Given the description of an element on the screen output the (x, y) to click on. 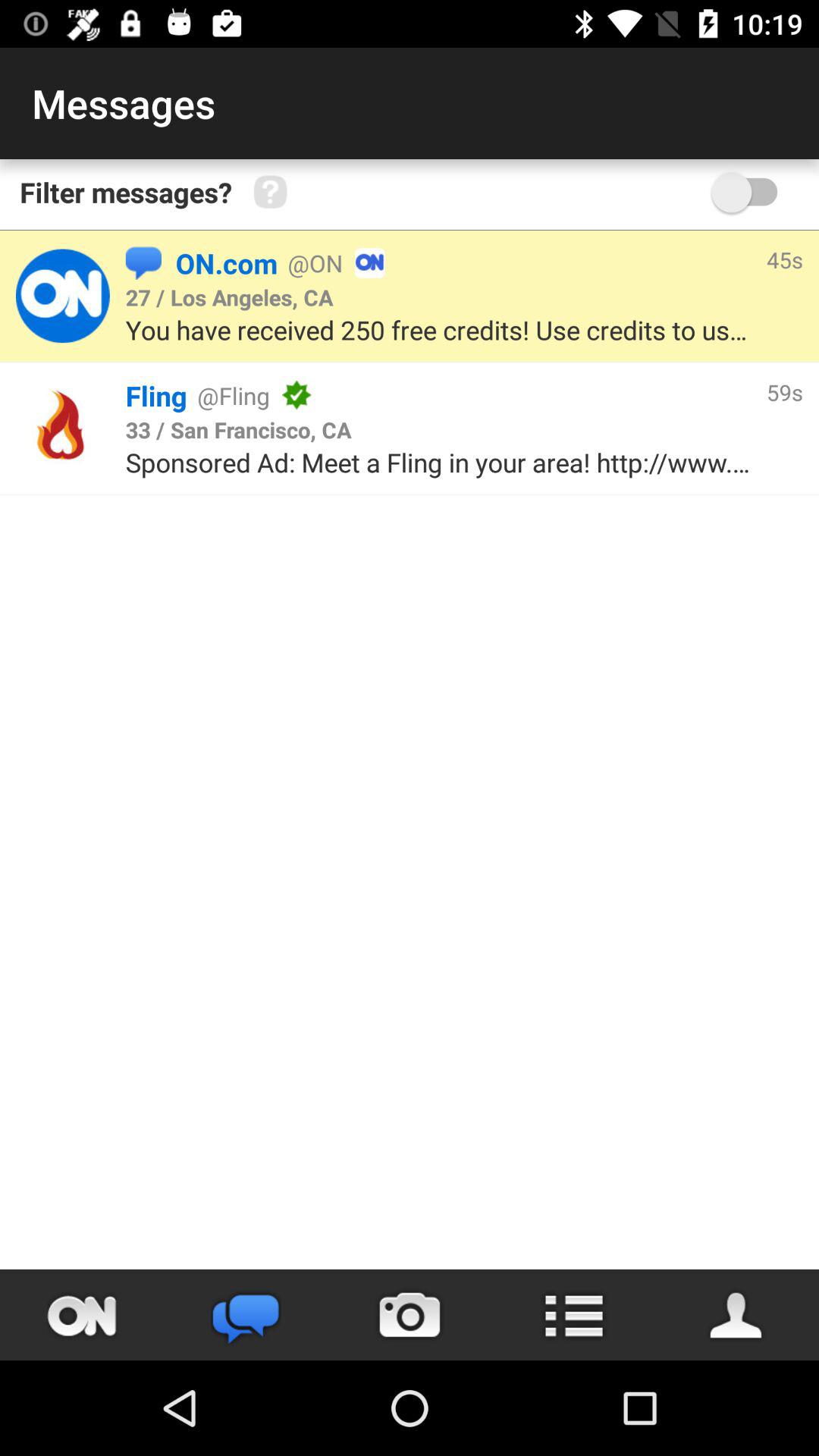
press the item next to 45s item (571, 262)
